Given the description of an element on the screen output the (x, y) to click on. 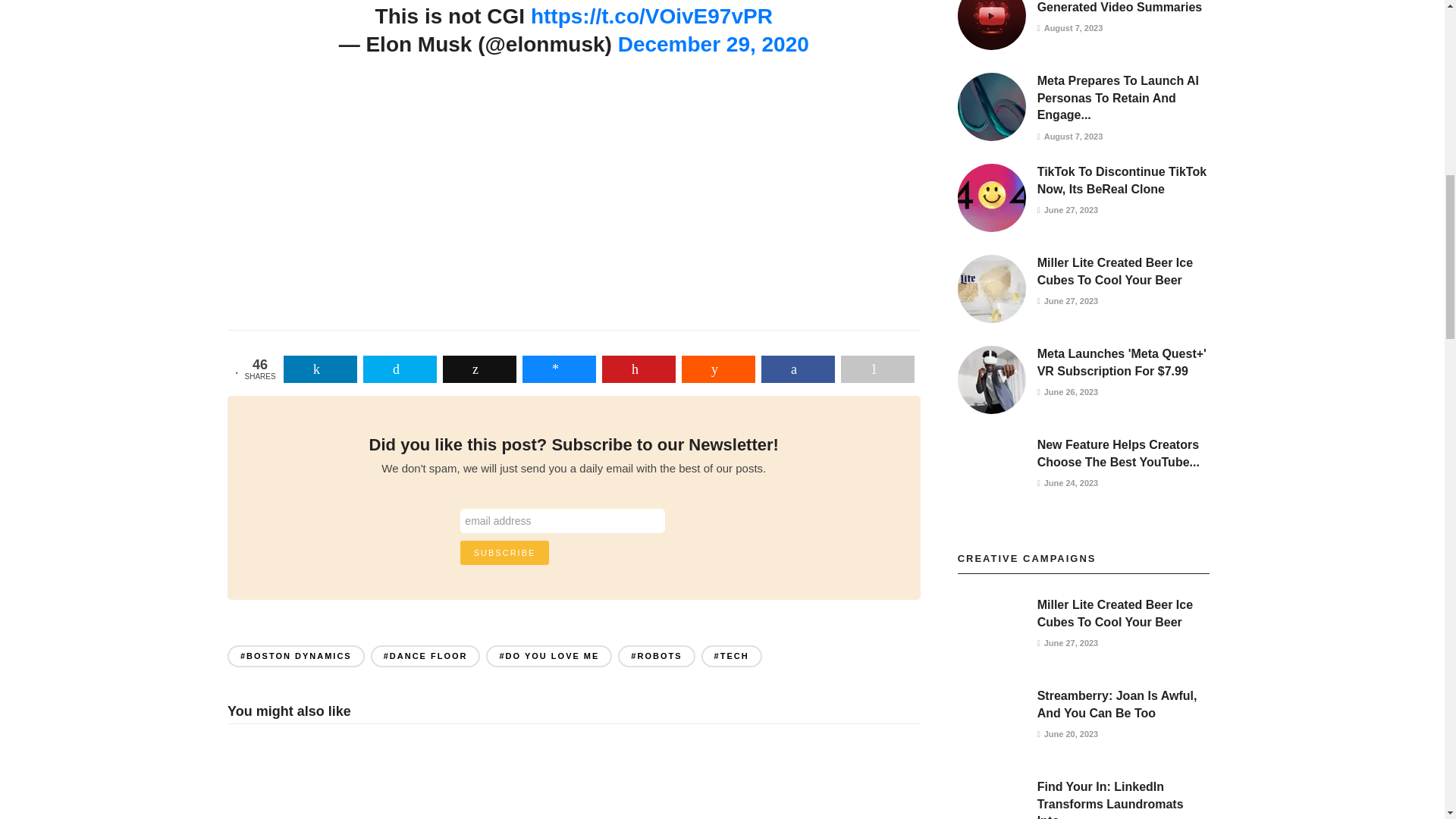
Do You Love Me? (417, 211)
Share on LinkedIn (319, 369)
Subscribe (505, 552)
Share on Twitter (399, 369)
